Given the description of an element on the screen output the (x, y) to click on. 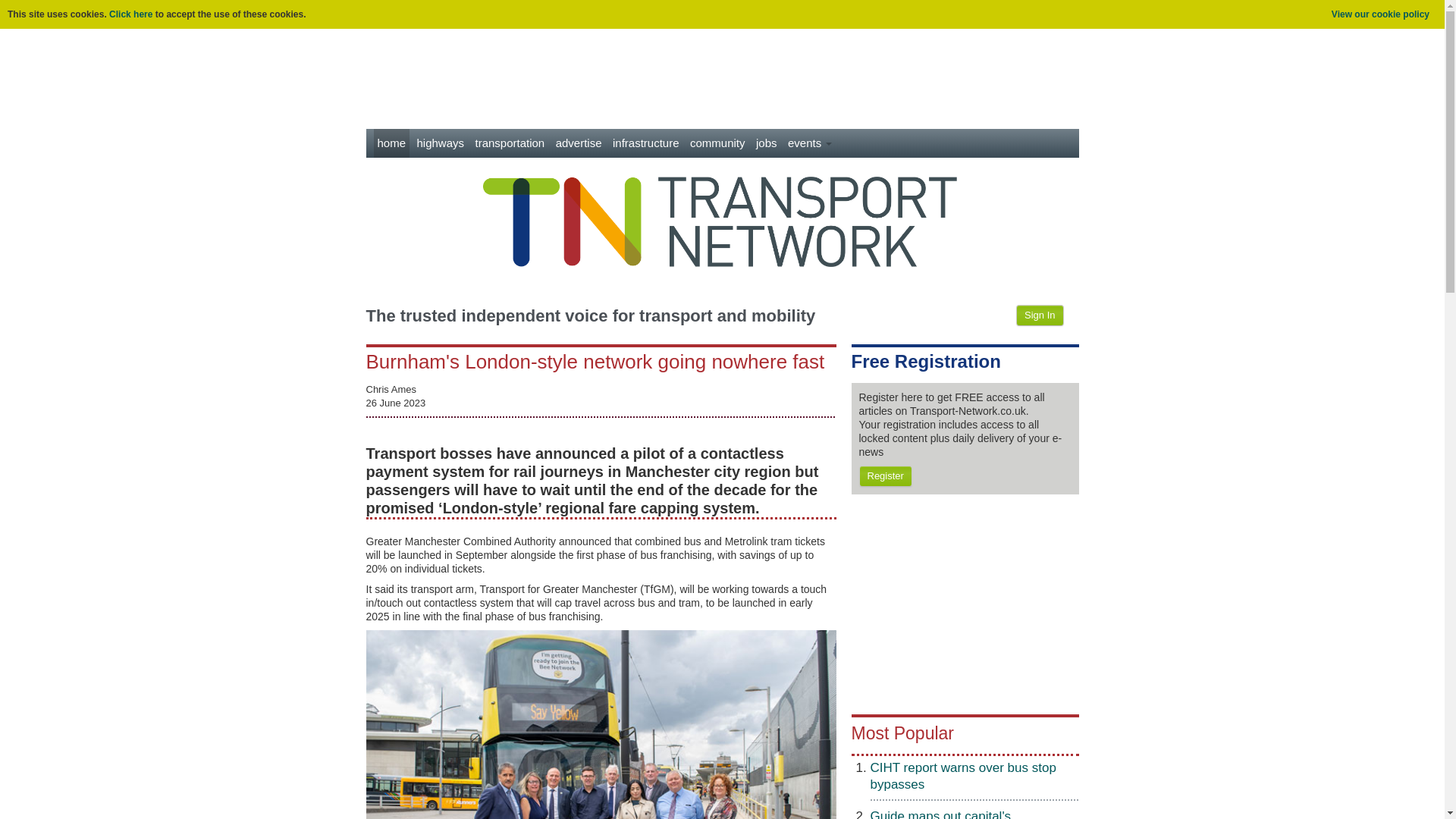
infrastructure (645, 142)
jobs (766, 142)
home (390, 142)
community (717, 142)
advertise (578, 142)
events (809, 142)
transportation (509, 142)
Sign In (1039, 315)
Register (885, 476)
highways (439, 142)
